Given the description of an element on the screen output the (x, y) to click on. 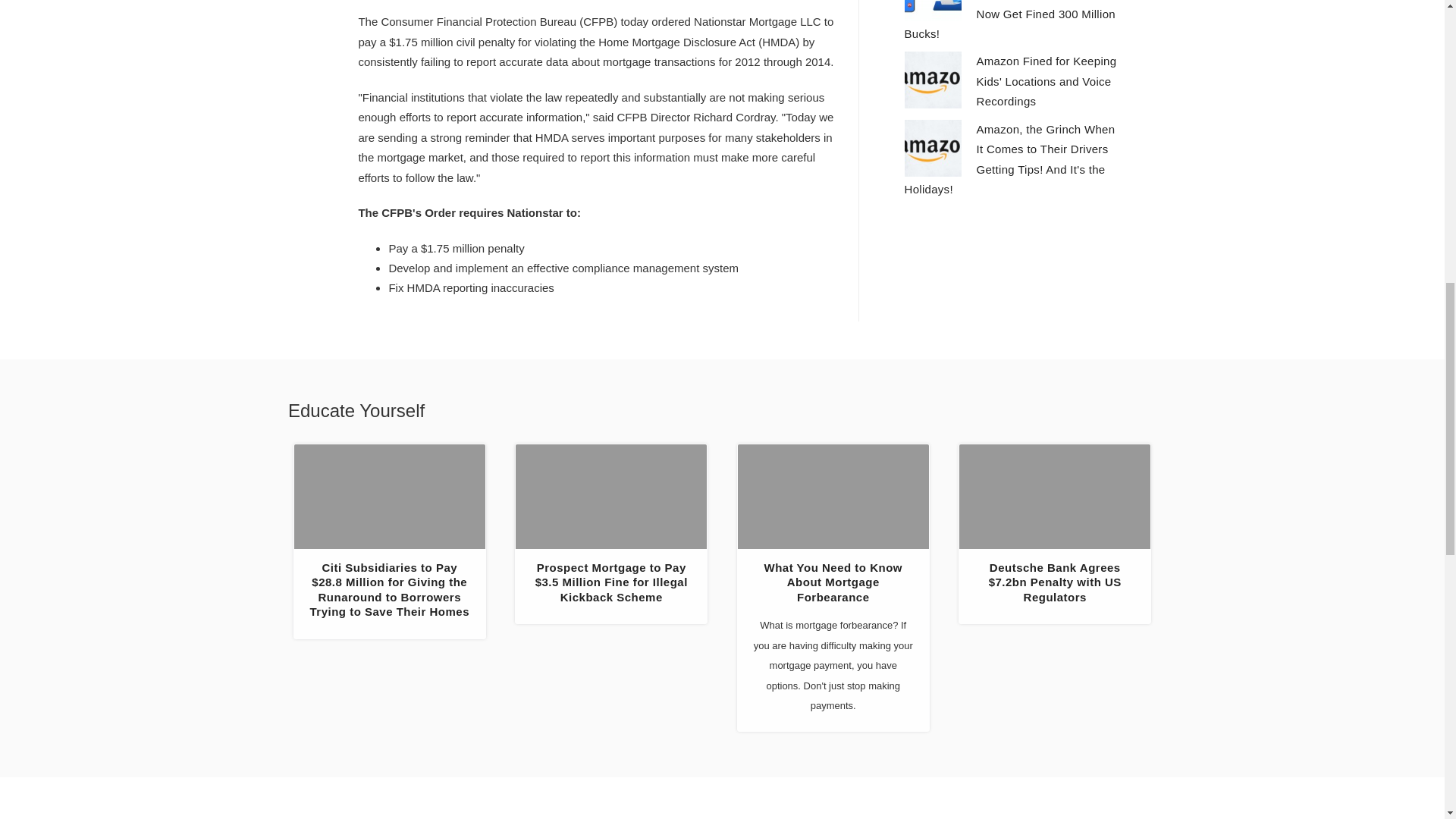
What You Need to Know About Mortgage Forbearance (833, 582)
